Given the description of an element on the screen output the (x, y) to click on. 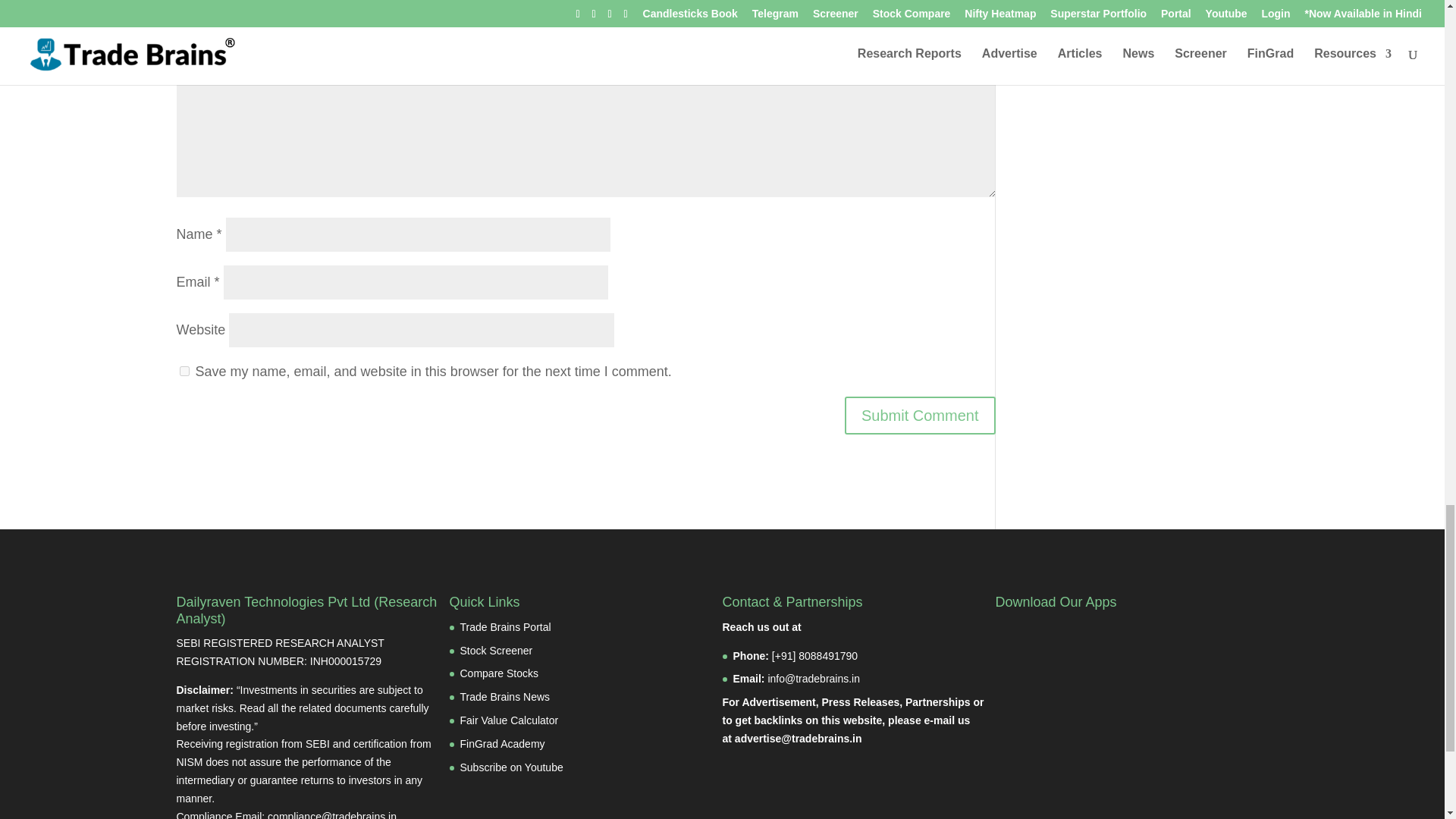
Submit Comment (919, 415)
yes (184, 370)
Submit Comment (919, 415)
